Given the description of an element on the screen output the (x, y) to click on. 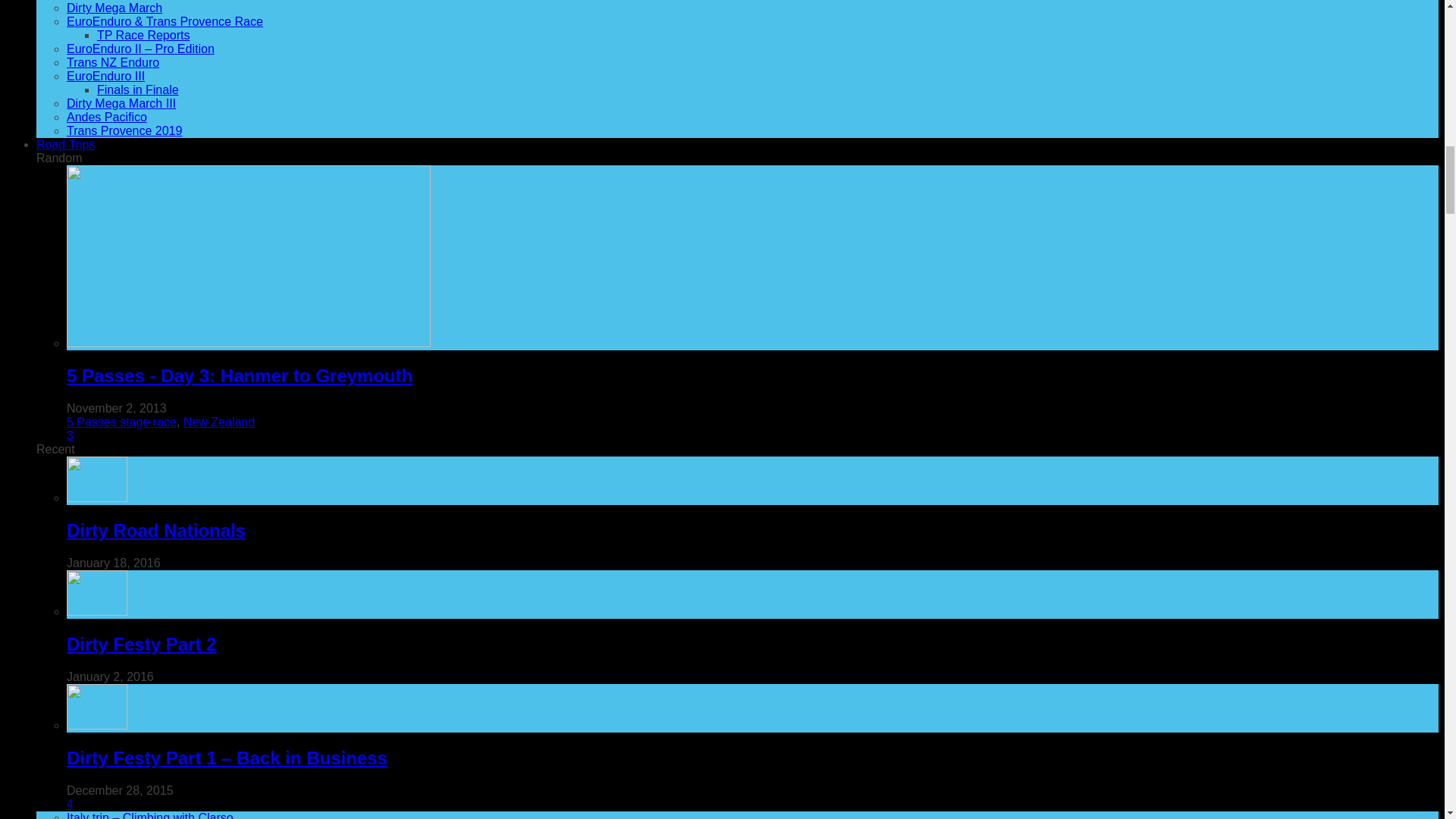
View all posts in New Zealand (218, 421)
View all posts in 5 Passes stage race (121, 421)
